Given the description of an element on the screen output the (x, y) to click on. 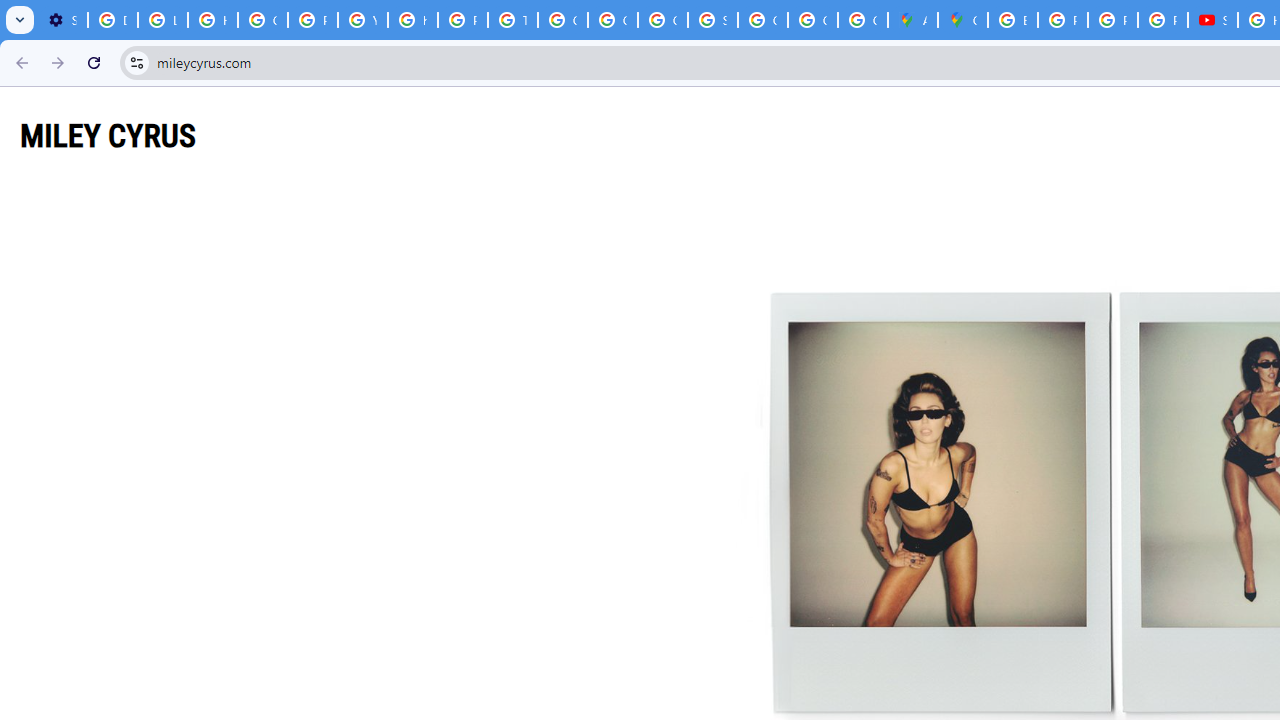
Google Account Help (262, 20)
YouTube (362, 20)
Privacy Help Center - Policies Help (462, 20)
Settings - Customize profile (62, 20)
Delete photos & videos - Computer - Google Photos Help (113, 20)
Learn how to find your photos - Google Photos Help (163, 20)
Sign in - Google Accounts (712, 20)
